Given the description of an element on the screen output the (x, y) to click on. 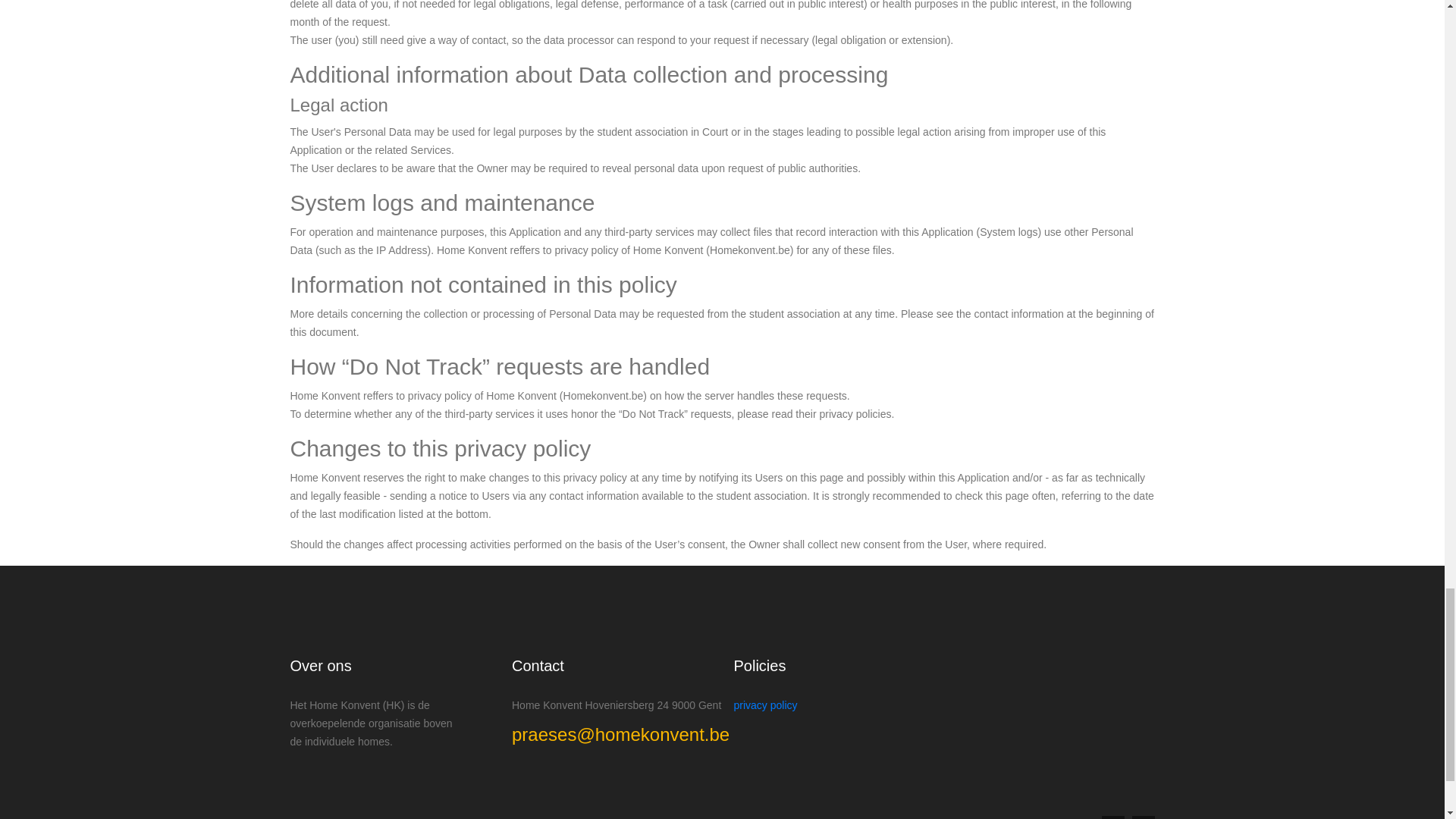
privacy policy (765, 705)
